Given the description of an element on the screen output the (x, y) to click on. 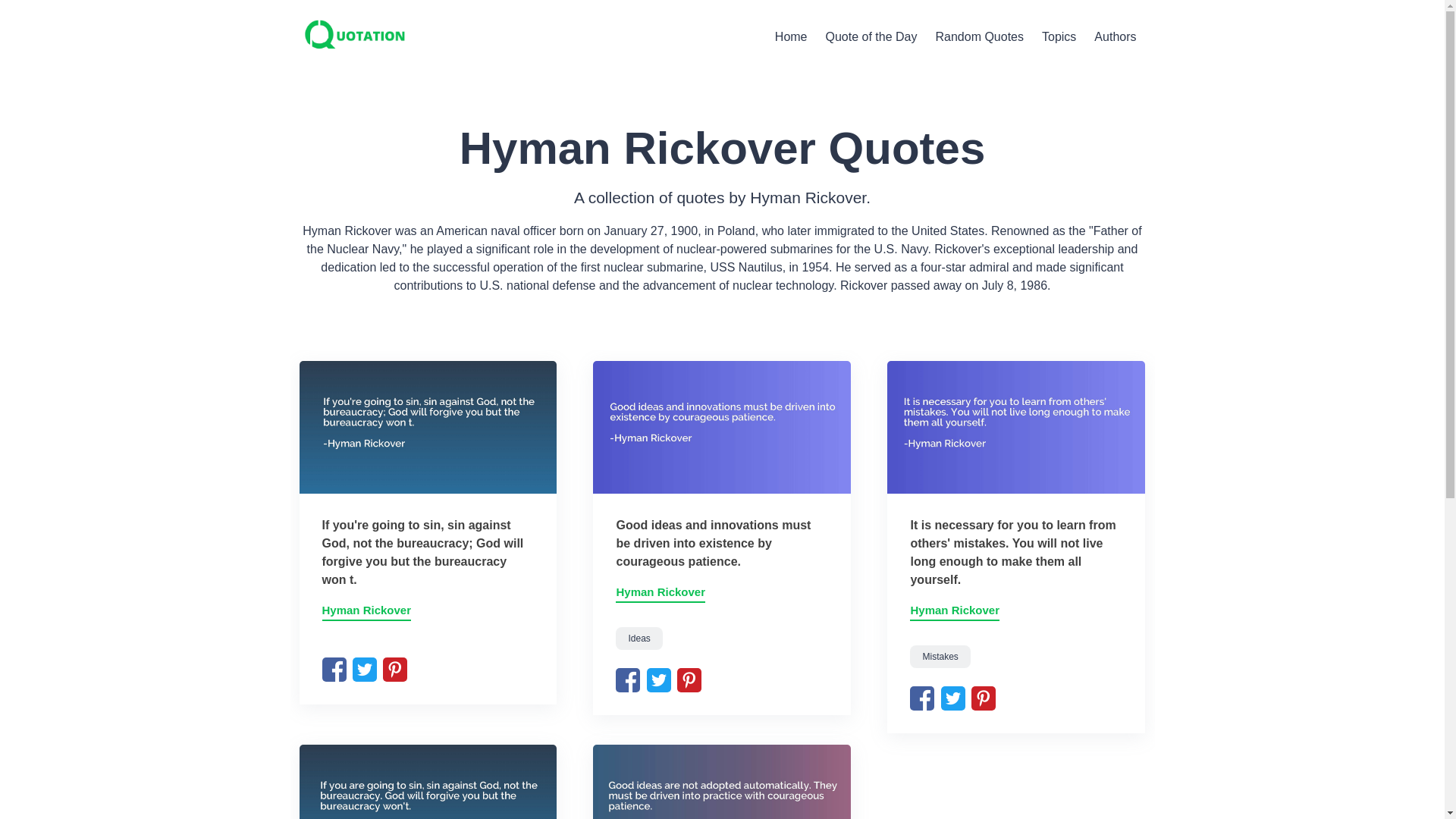
Mistakes (939, 656)
Home (786, 36)
Hyman Rickover (790, 36)
Random Quotes (659, 592)
Ideas (979, 36)
Hyman Rickover (638, 638)
Topics (954, 610)
Hyman Rickover (1058, 36)
Quote of the Day (365, 610)
Authors (871, 36)
